Given the description of an element on the screen output the (x, y) to click on. 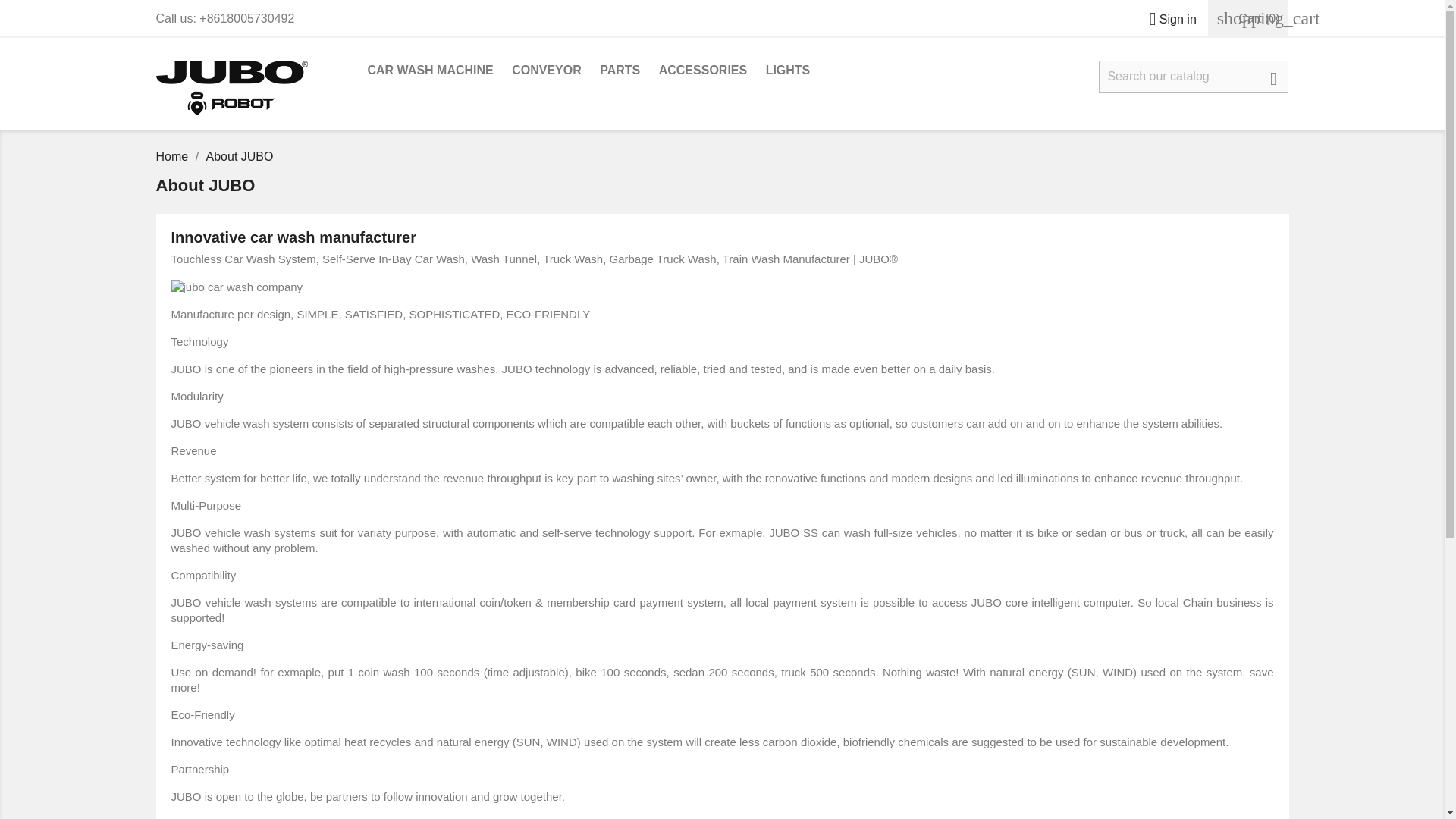
PARTS (619, 71)
Home (173, 155)
About JUBO (239, 155)
CONVEYOR (546, 71)
CAR WASH MACHINE (429, 71)
Log in to your customer account (1166, 19)
ACCESSORIES (702, 71)
LIGHTS (788, 71)
